Given the description of an element on the screen output the (x, y) to click on. 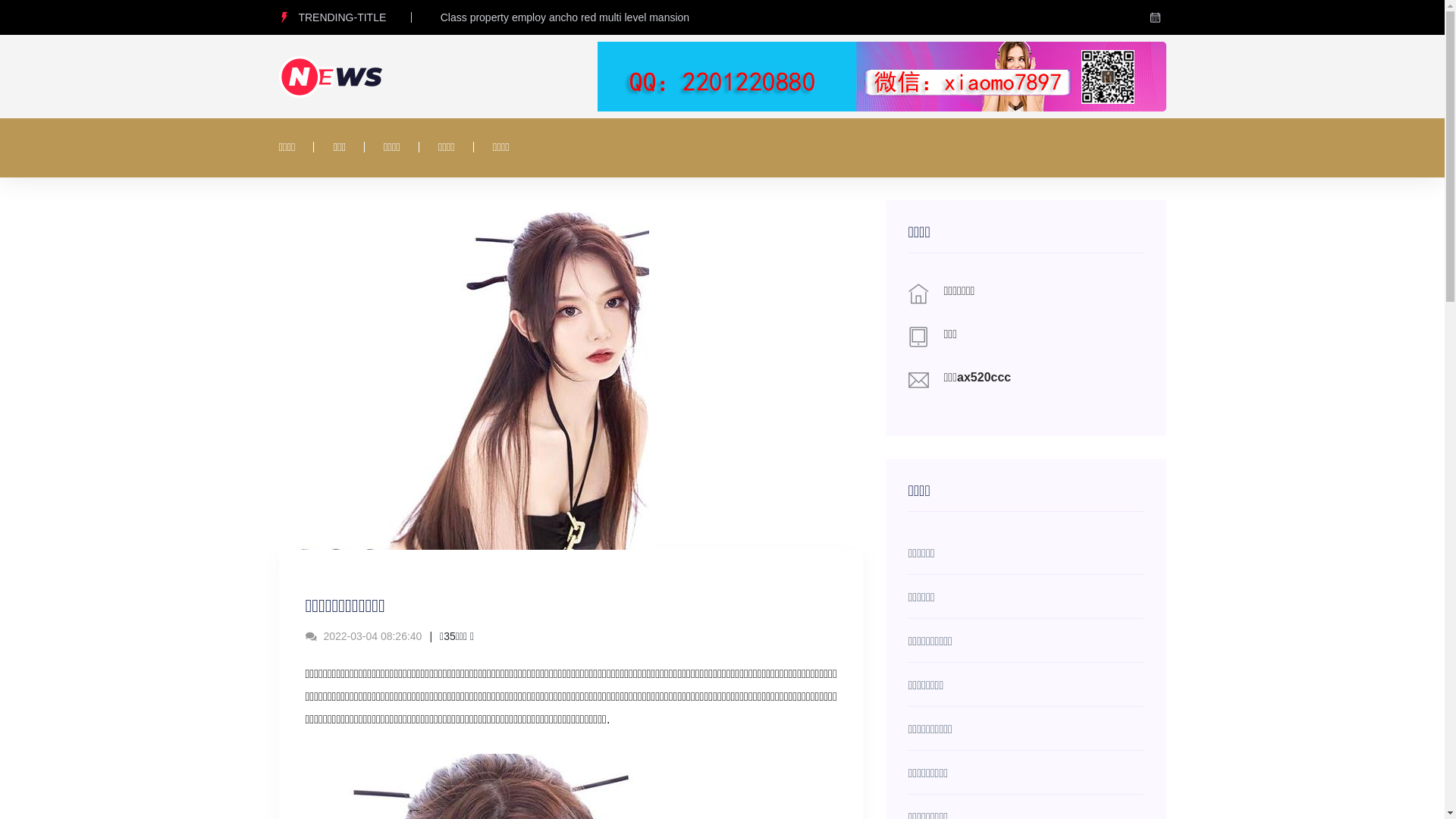
2022-03-04 08:26:40 Element type: text (362, 636)
